Given the description of an element on the screen output the (x, y) to click on. 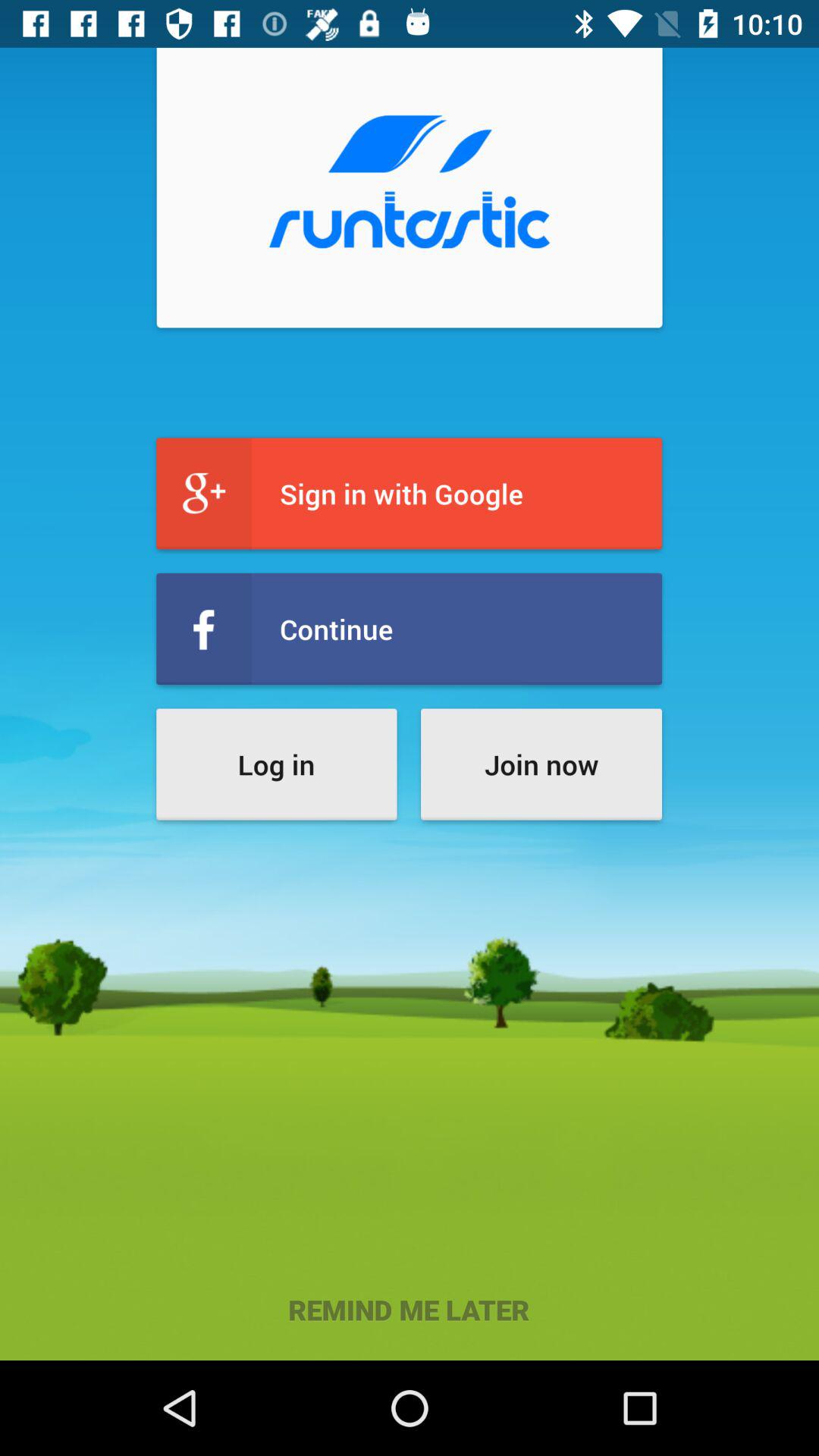
select item above continue icon (409, 493)
